Given the description of an element on the screen output the (x, y) to click on. 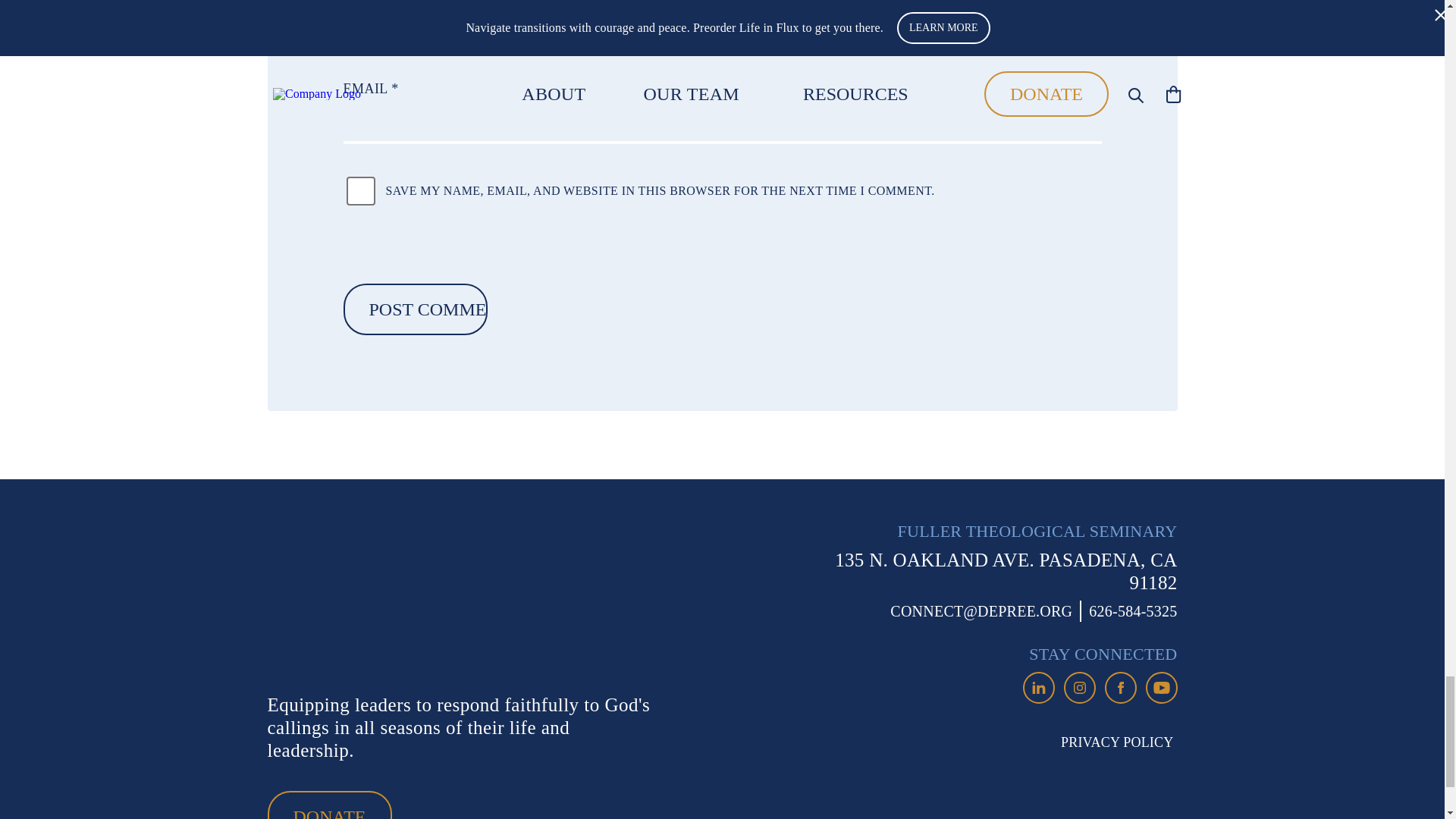
Post Comment (414, 308)
yes (360, 190)
Return to Homepage (383, 599)
